Given the description of an element on the screen output the (x, y) to click on. 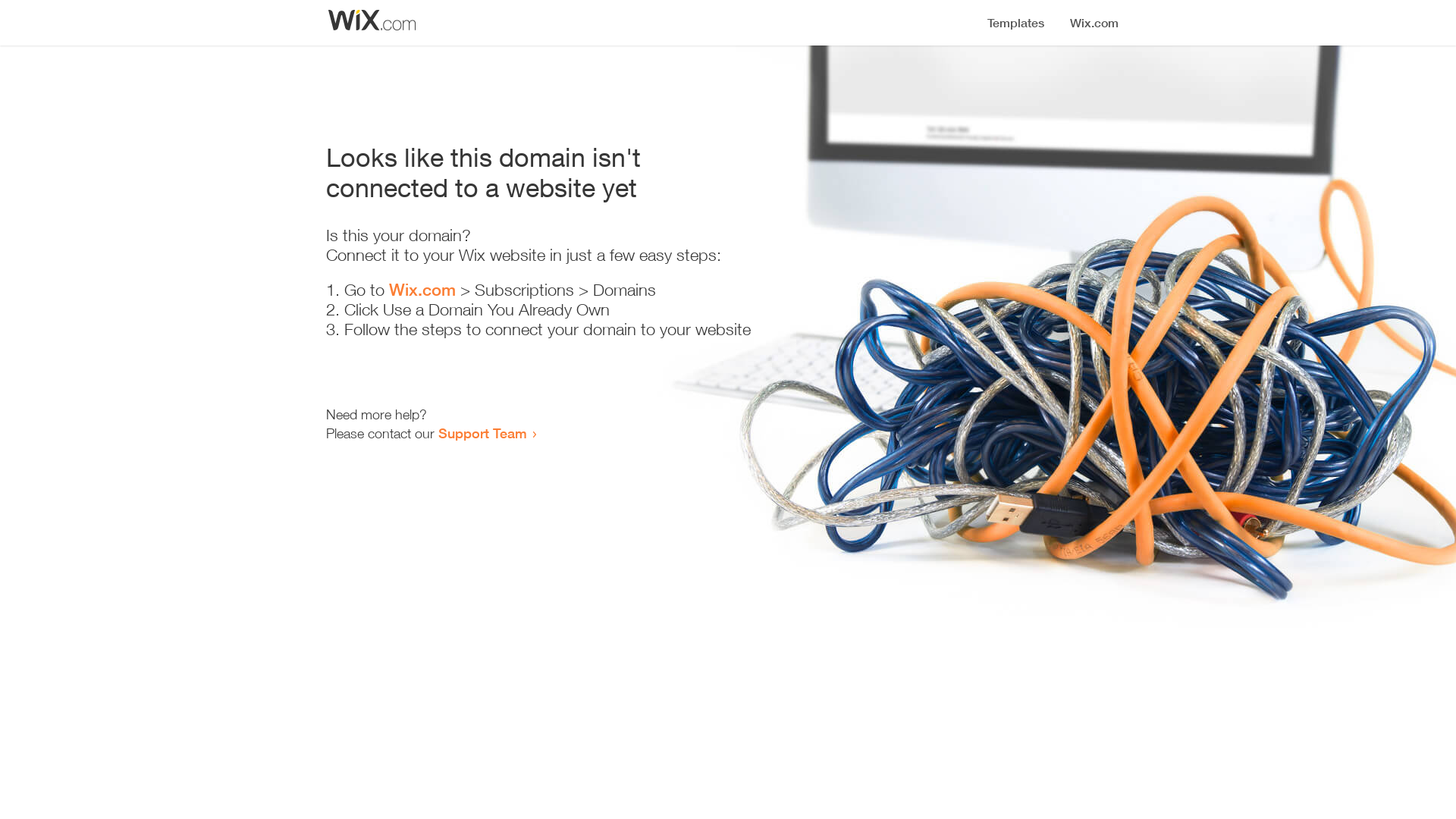
Wix.com Element type: text (422, 289)
Support Team Element type: text (482, 432)
